Given the description of an element on the screen output the (x, y) to click on. 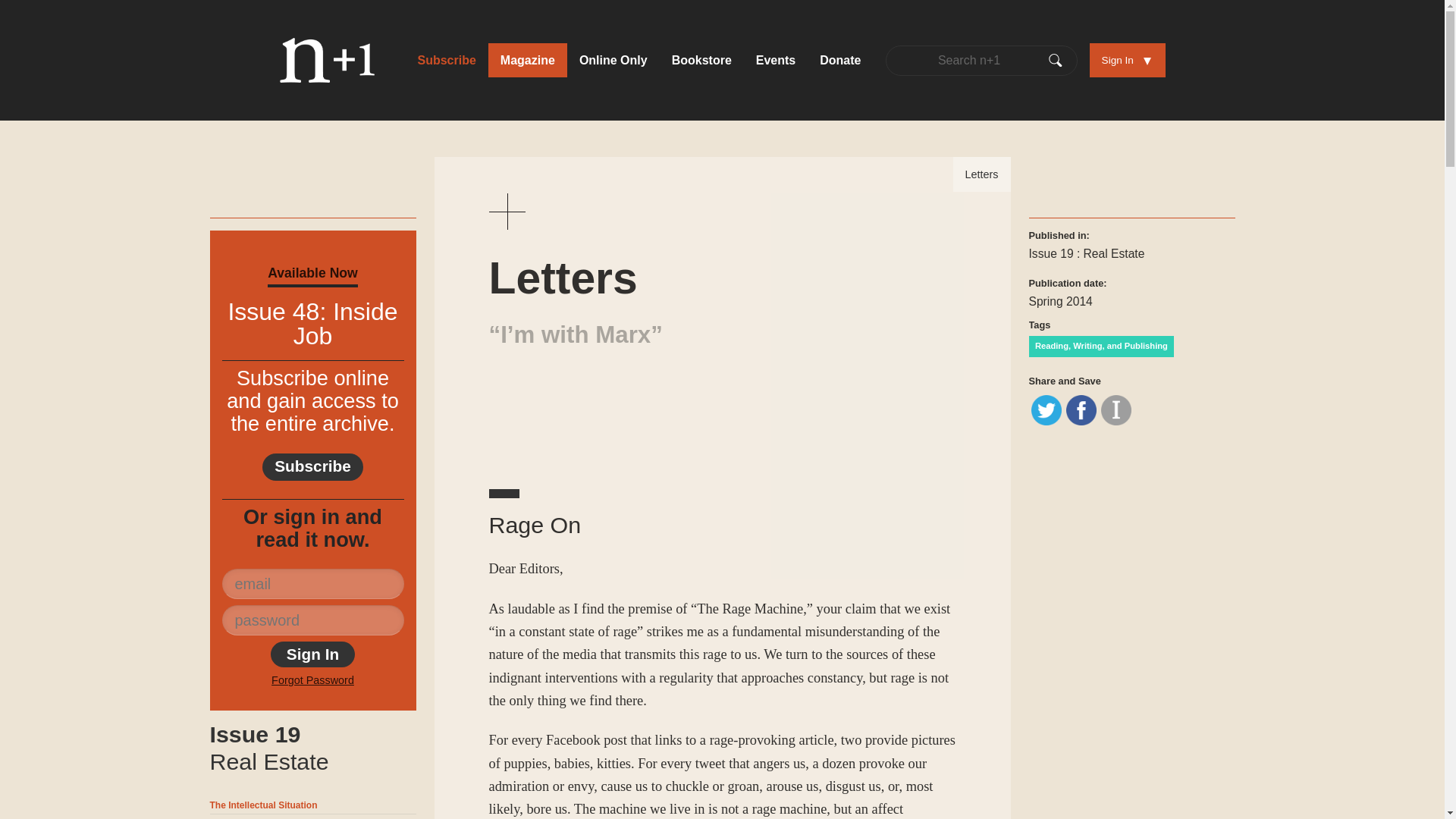
Latest dispatches (613, 59)
Instapaper (1115, 409)
Donate (840, 59)
Reading, Writing, and Publishing (1100, 346)
Sign In (311, 747)
Facebook (312, 654)
Forgot Password (1080, 409)
Twitter (311, 680)
Ukraine, Putin, and the West (1045, 409)
